Given the description of an element on the screen output the (x, y) to click on. 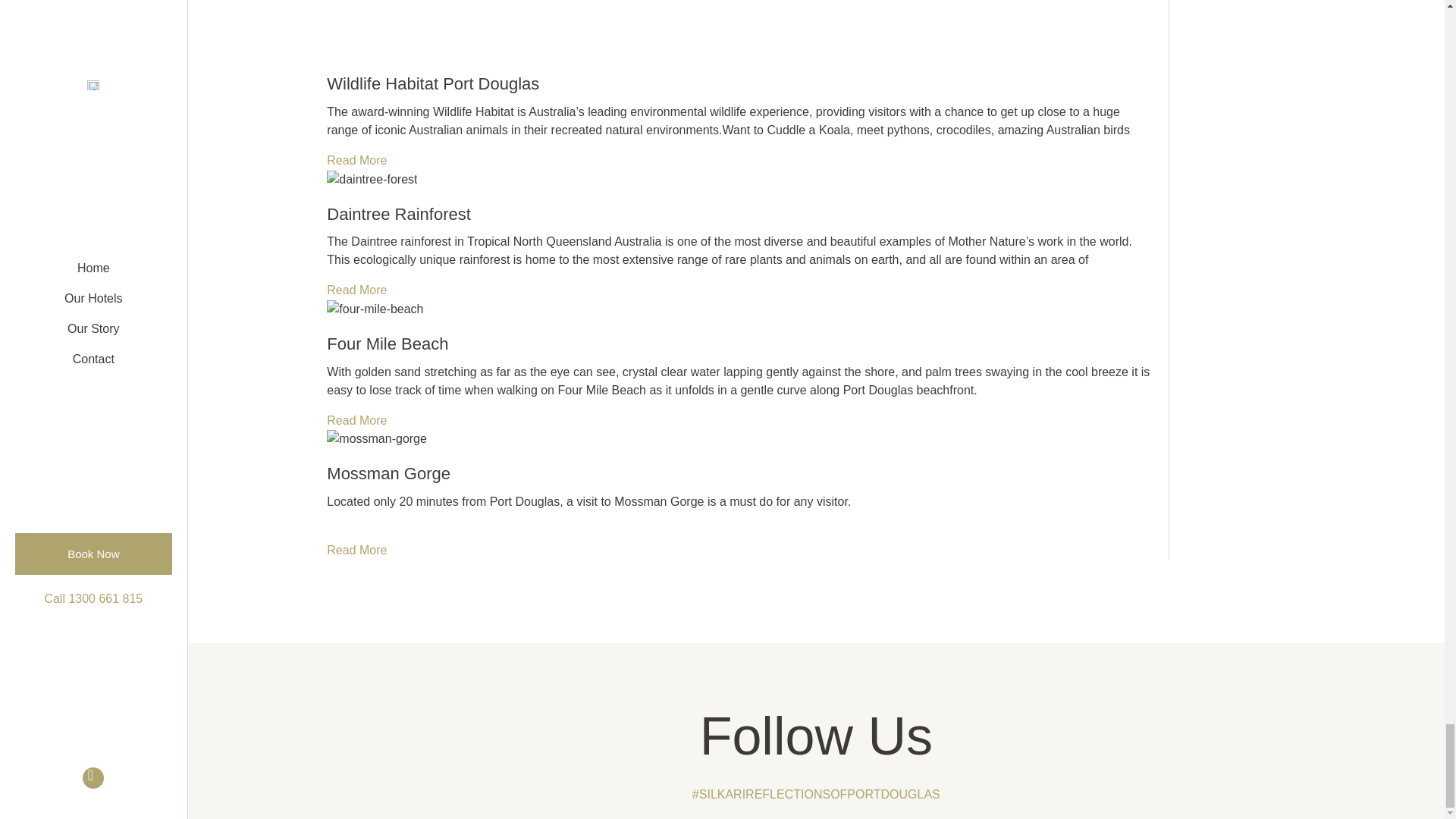
Read More (356, 160)
